Given the description of an element on the screen output the (x, y) to click on. 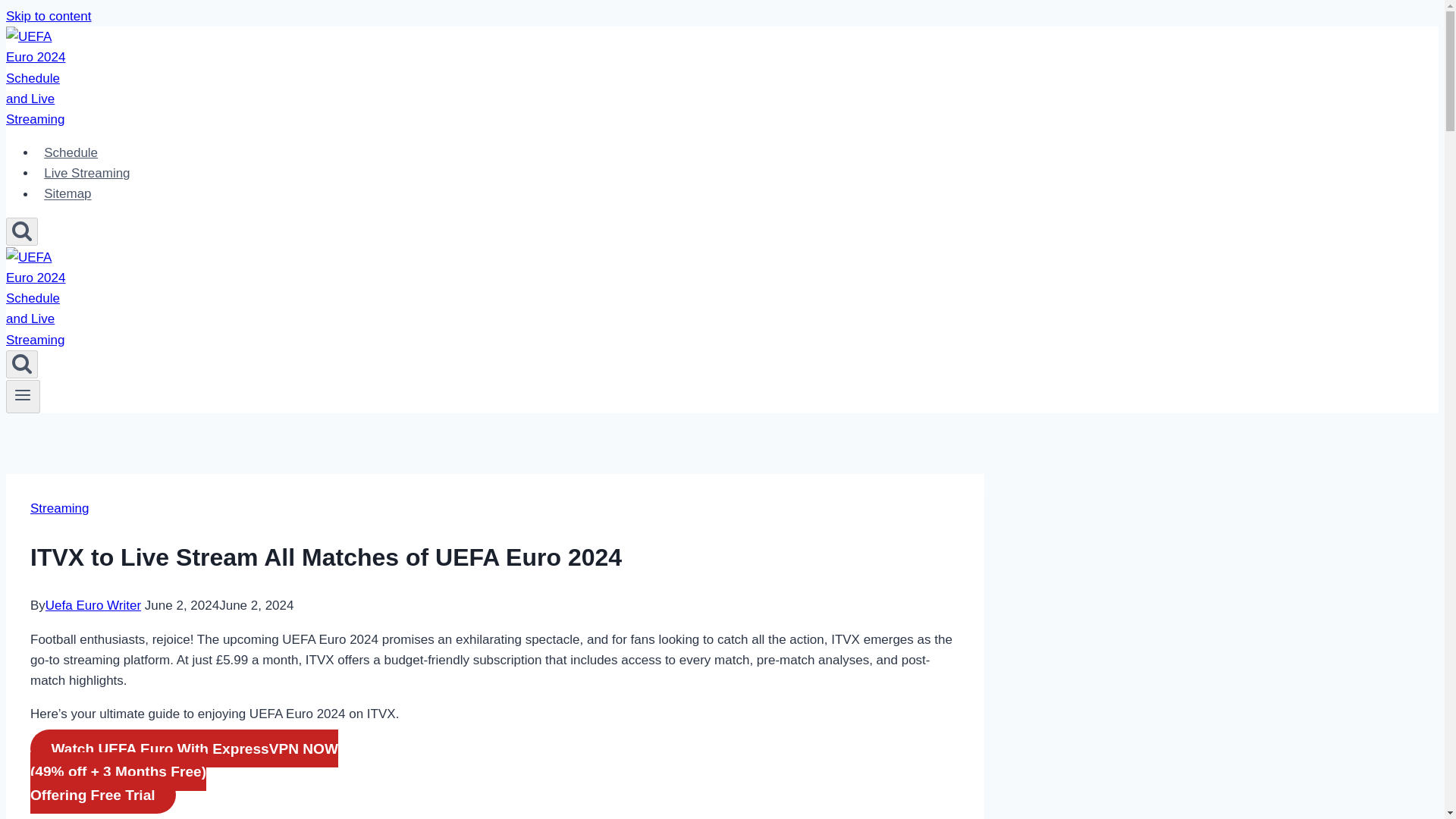
Search (21, 364)
Search (21, 231)
Toggle Menu (22, 396)
Sitemap (67, 193)
Skip to content (47, 16)
Search (21, 230)
Streaming (59, 508)
Toggle Menu (22, 394)
Uefa Euro Writer (93, 605)
Live Streaming (87, 173)
Search (21, 362)
Schedule (70, 152)
Skip to content (47, 16)
